Given the description of an element on the screen output the (x, y) to click on. 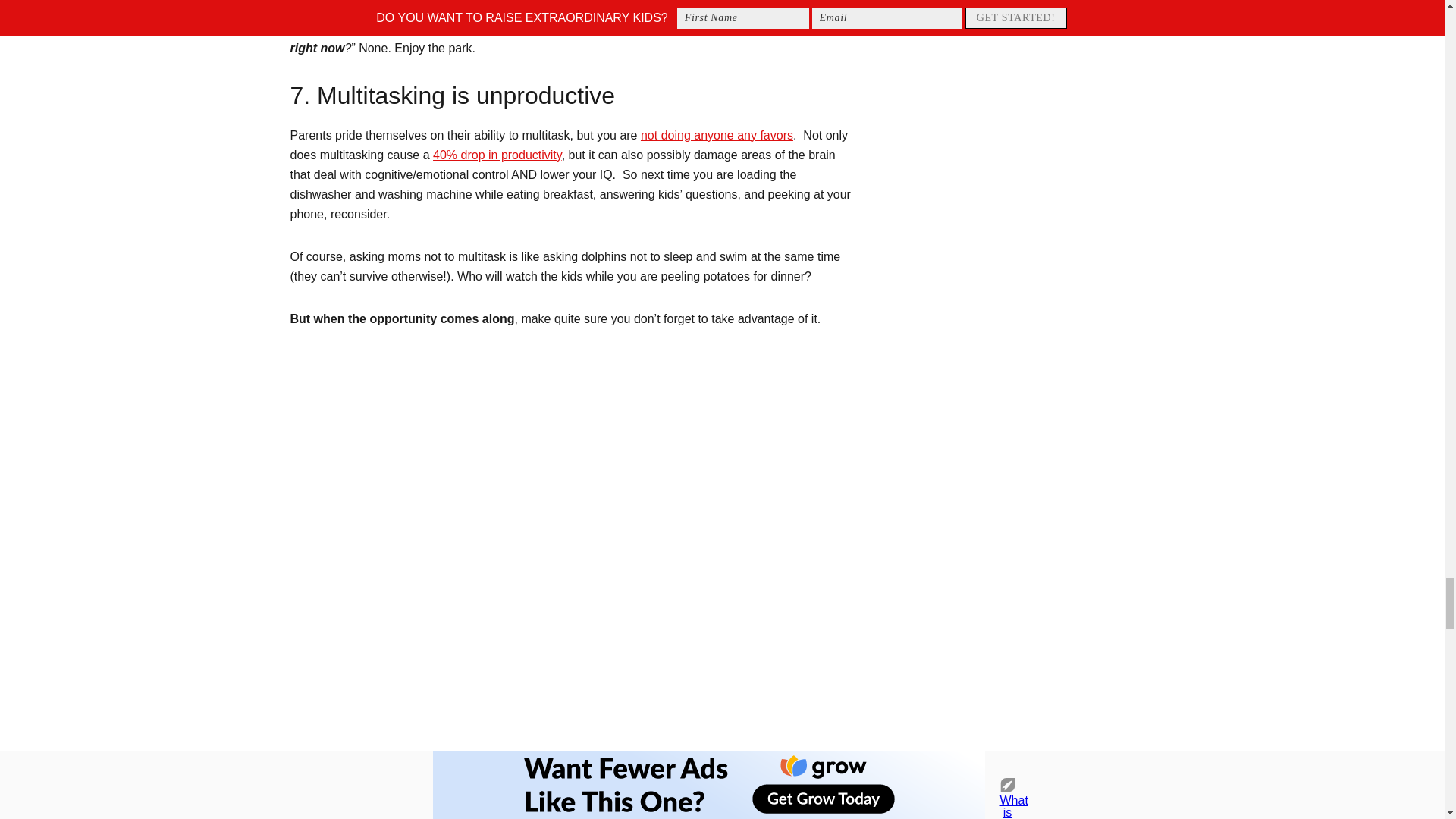
not doing anyone any favors (716, 134)
